Given the description of an element on the screen output the (x, y) to click on. 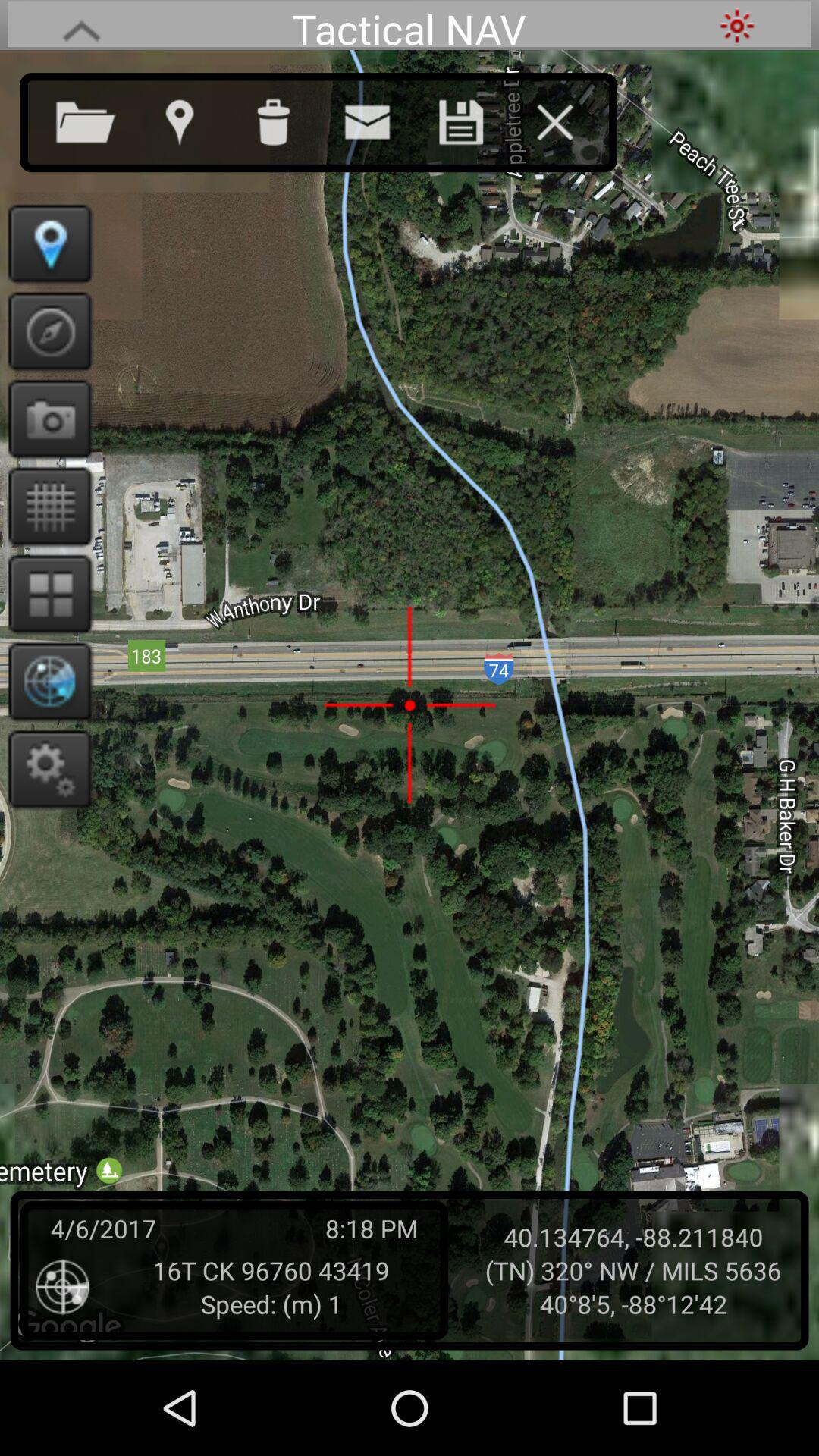
exit this window (570, 119)
